Given the description of an element on the screen output the (x, y) to click on. 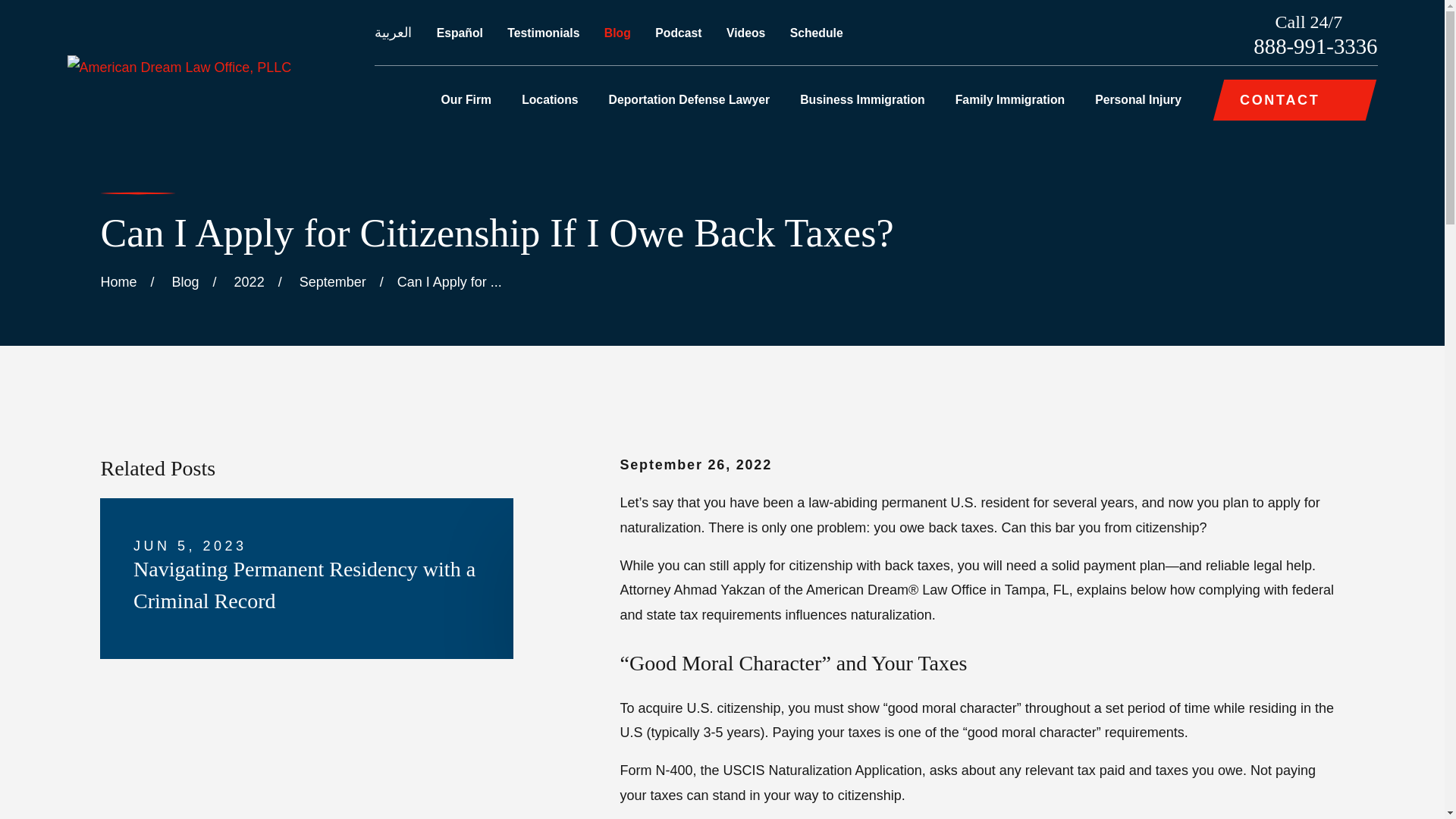
Blog (617, 32)
Deportation Defense Lawyer (689, 99)
Our Firm (466, 99)
Videos (745, 32)
Podcast (678, 32)
Go Home (118, 281)
Home (178, 66)
Testimonials (542, 32)
888-991-3336 (1315, 46)
Schedule (816, 32)
